Given the description of an element on the screen output the (x, y) to click on. 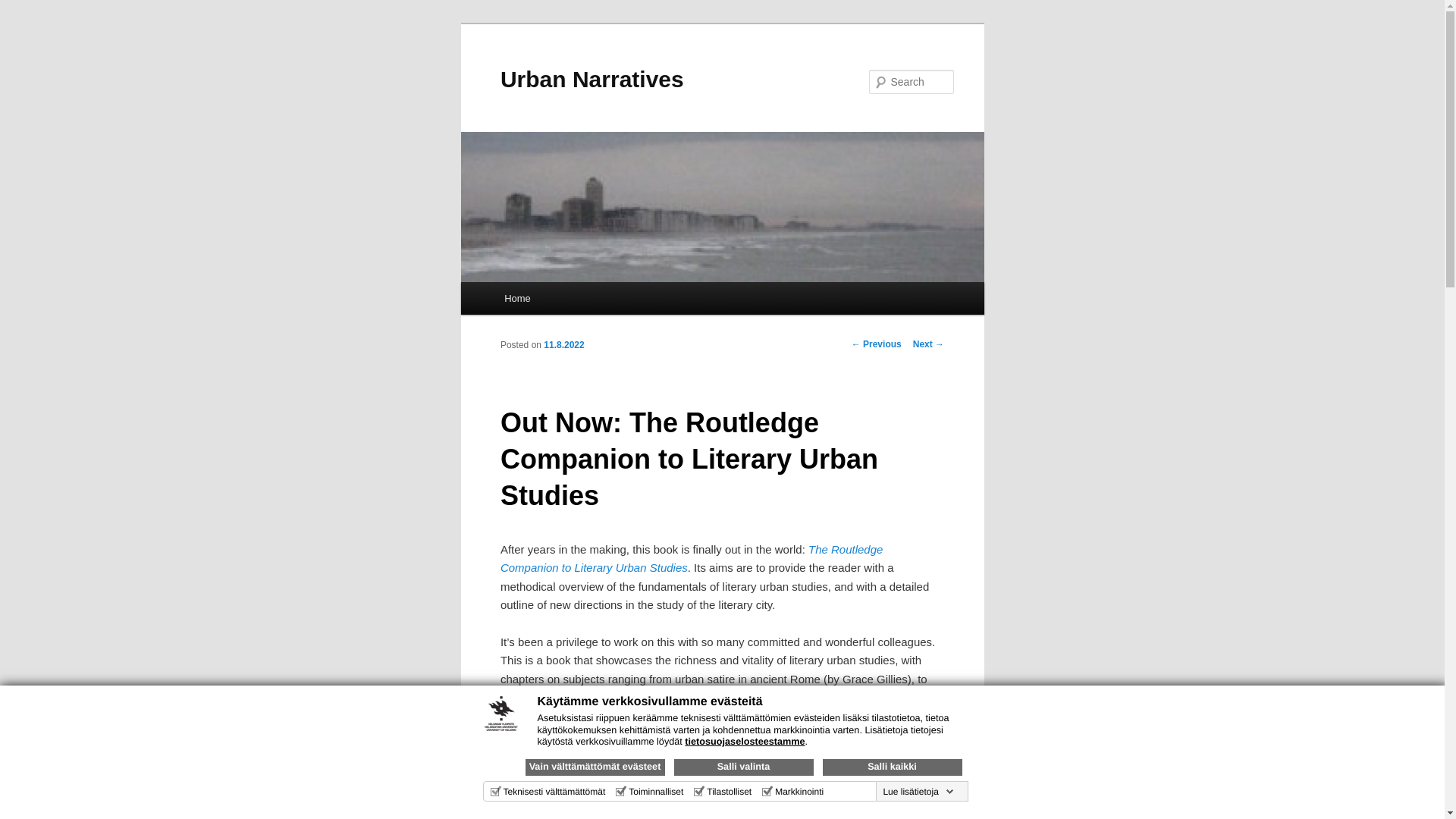
Salli kaikki (891, 767)
tietosuojaselosteestamme (744, 741)
Salli valinta (742, 767)
